Given the description of an element on the screen output the (x, y) to click on. 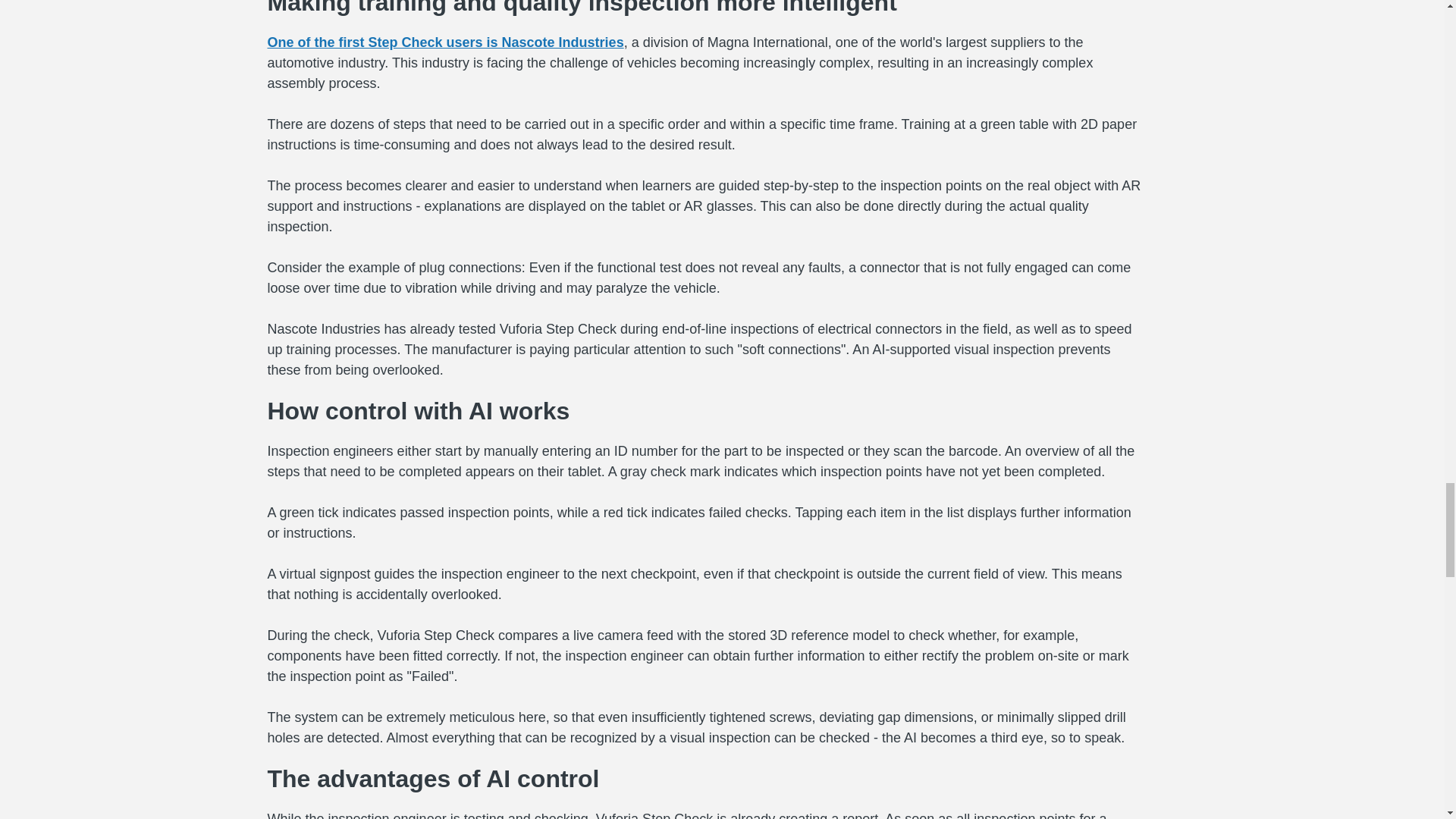
One of the first Step Check users is Nascote Industries (444, 42)
